Given the description of an element on the screen output the (x, y) to click on. 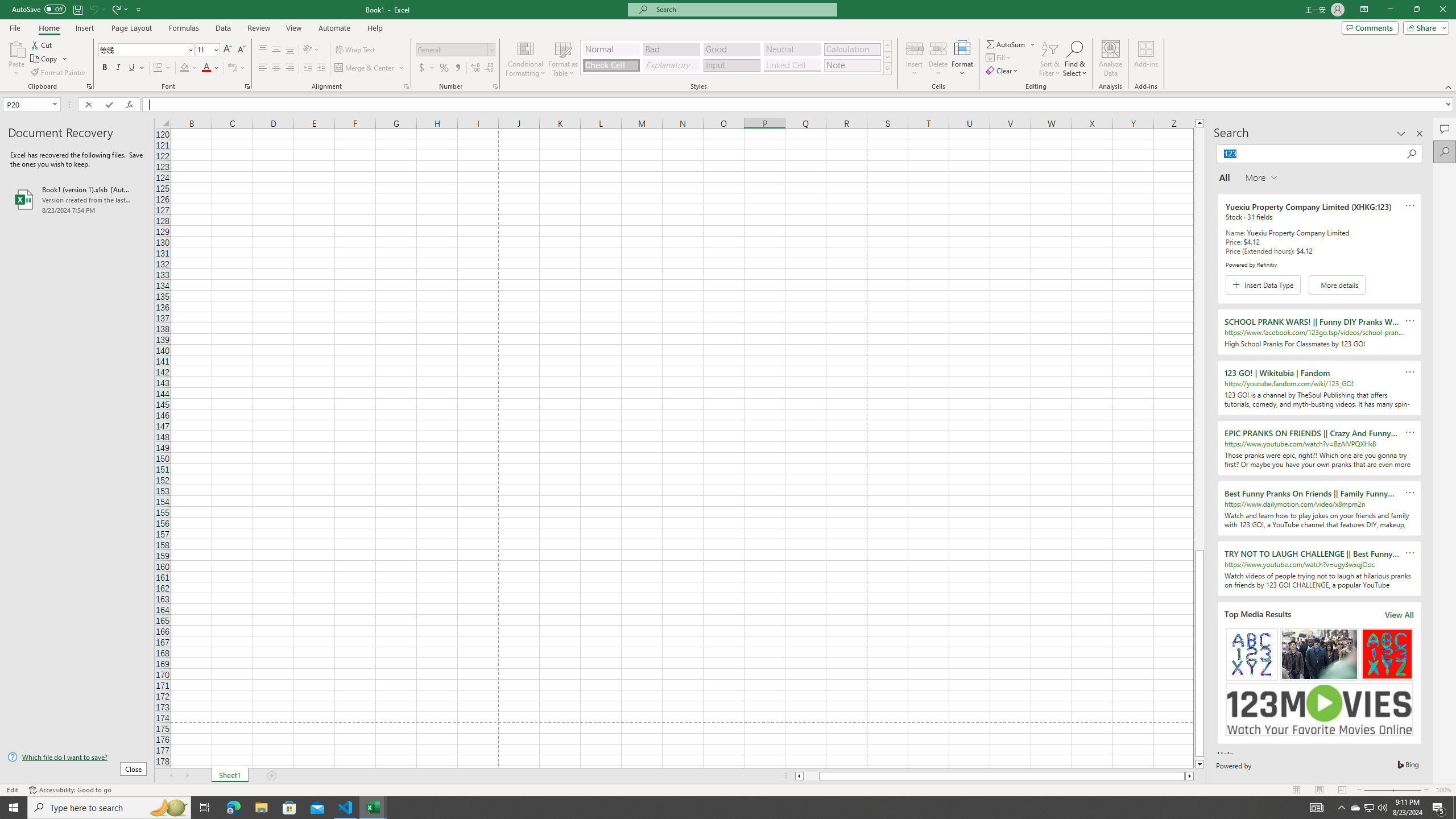
Good (731, 49)
Note (852, 65)
Clear (1003, 69)
Accounting Number Format (426, 67)
Decrease Indent (307, 67)
Microsoft search (742, 9)
Sum (1006, 44)
Align Right (290, 67)
Page down (1199, 758)
Format Cell Alignment (405, 85)
